Given the description of an element on the screen output the (x, y) to click on. 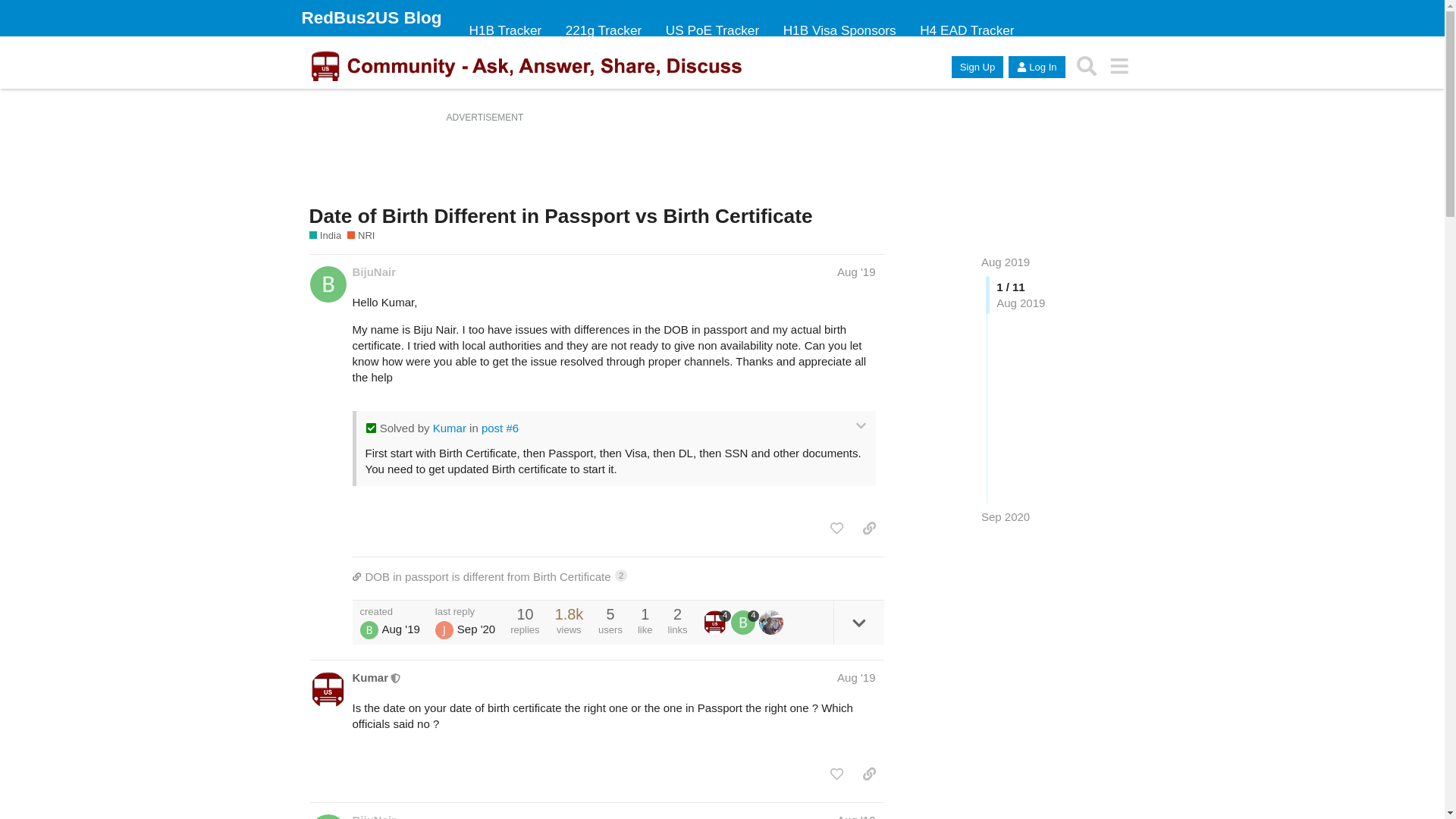
menu (1119, 65)
US PoE Tracker (712, 30)
H1B Visa Sponsors (839, 30)
Advertisement (721, 160)
Post date (856, 271)
Aug 2019 (1005, 261)
US PoE Tracker (712, 30)
NRI (361, 235)
221g Tracker (603, 30)
H1B Tracker (505, 30)
Log In (1036, 66)
India (325, 235)
Aug 2019 (1005, 261)
Aug '19 (856, 271)
RedBus2US Blog (371, 17)
